Given the description of an element on the screen output the (x, y) to click on. 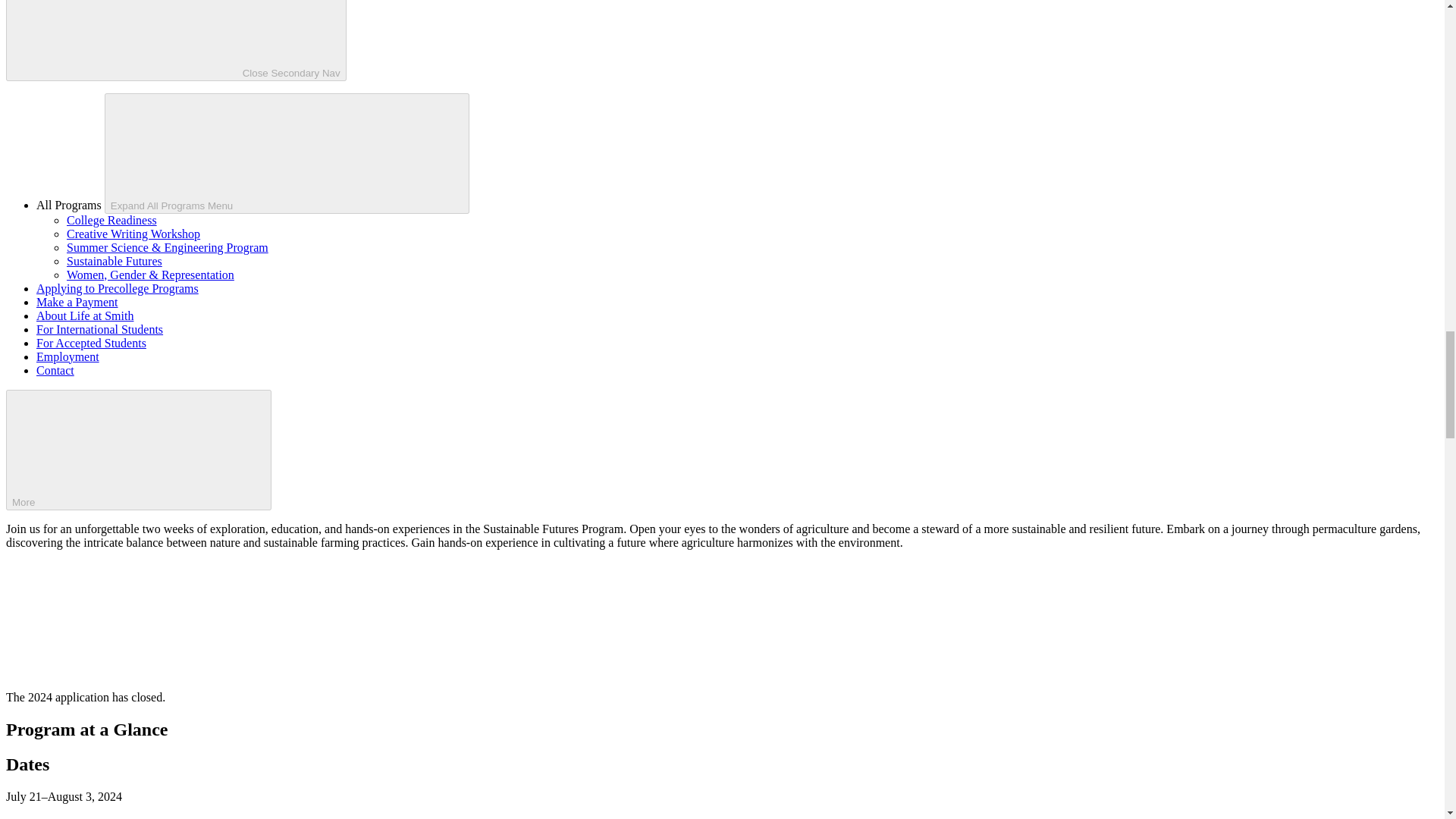
More (137, 449)
